Given the description of an element on the screen output the (x, y) to click on. 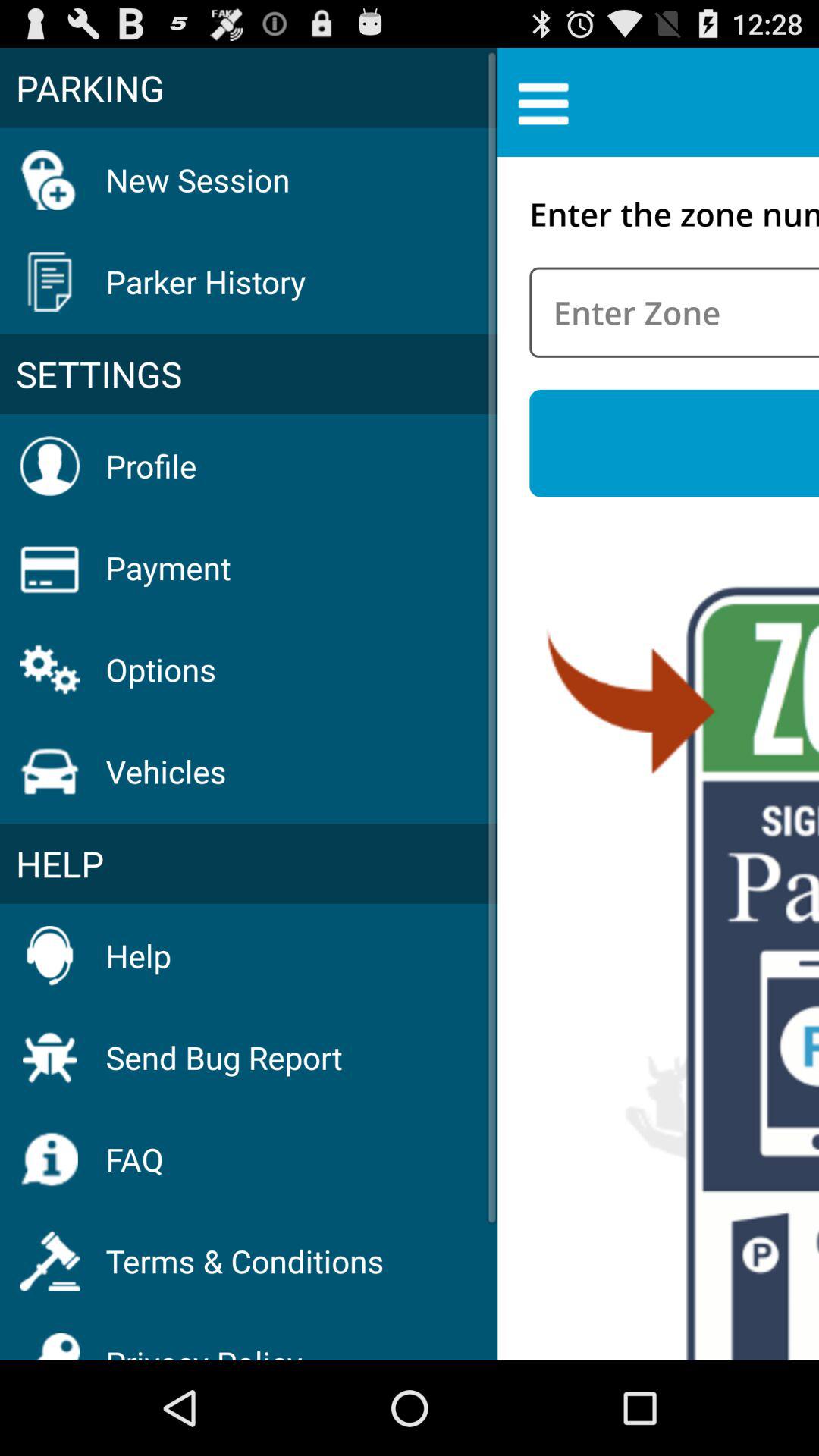
flip until privacy policy (203, 1342)
